Given the description of an element on the screen output the (x, y) to click on. 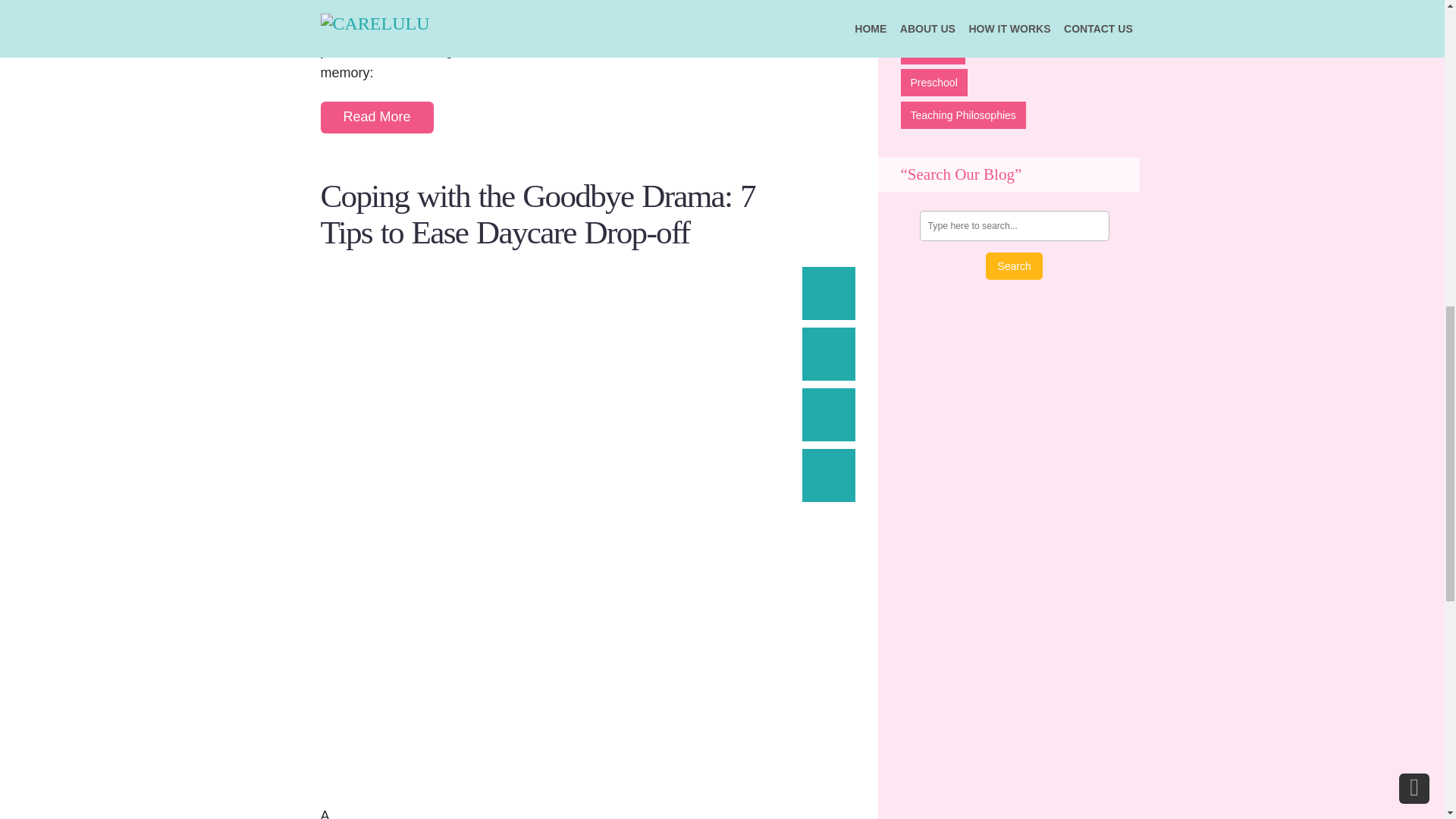
Read More (376, 117)
